Given the description of an element on the screen output the (x, y) to click on. 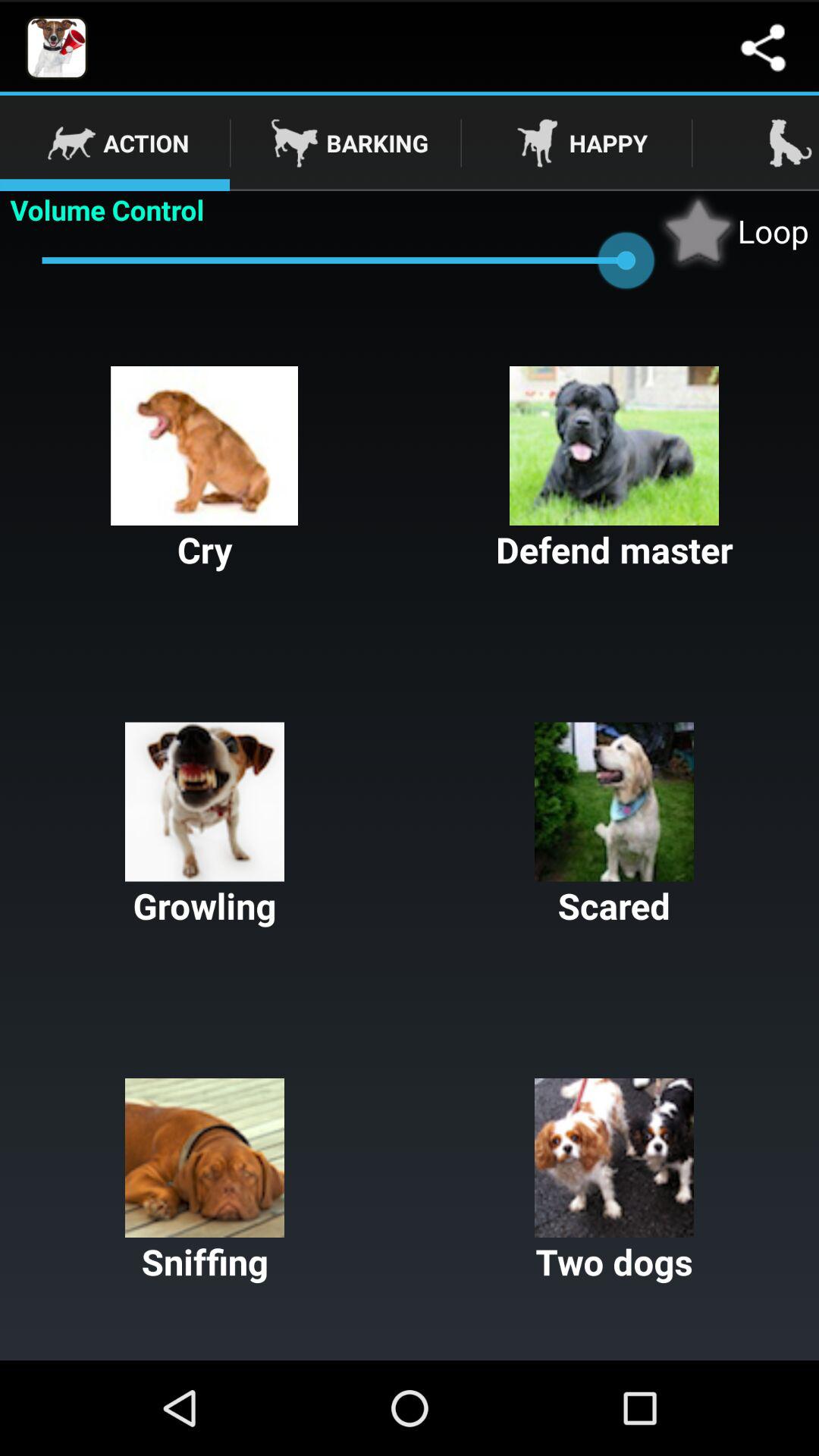
launch sniffing (204, 1181)
